Given the description of an element on the screen output the (x, y) to click on. 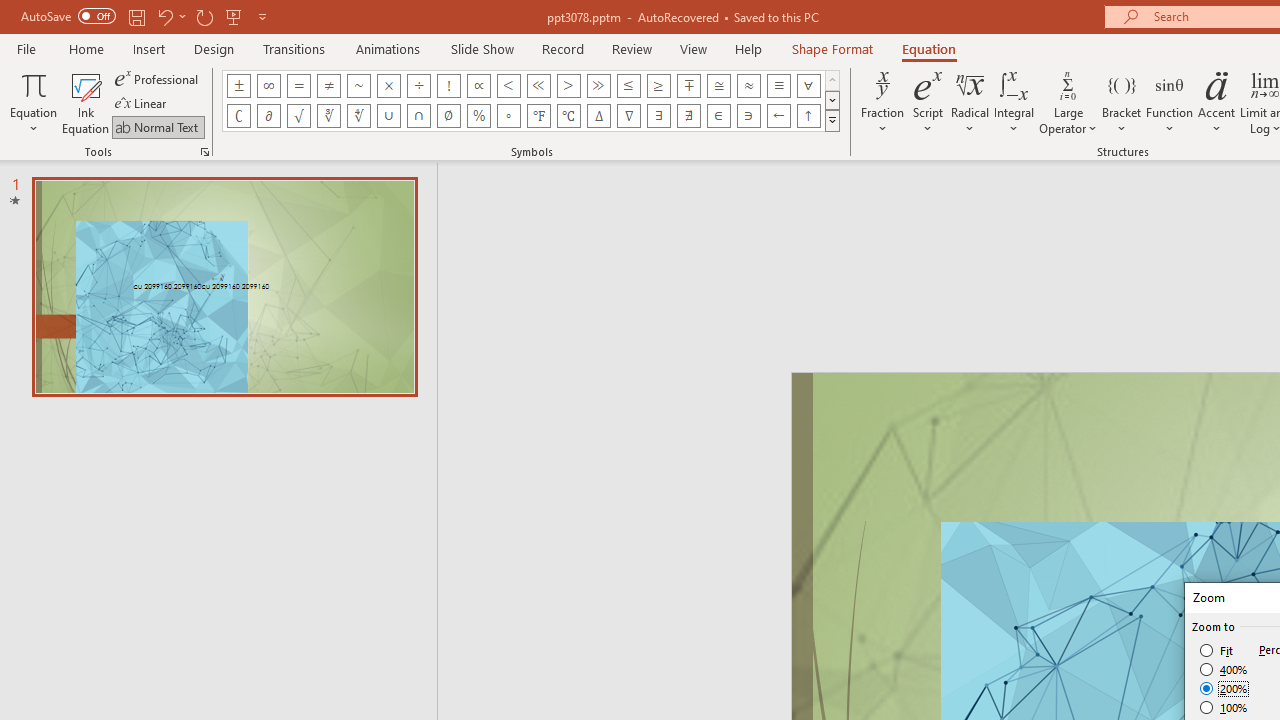
Equation Symbol There Exists (658, 115)
200% (1224, 688)
Equation Symbol Complement (238, 115)
Equation Symbol Radical Sign (298, 115)
Equation Symbol Less Than (508, 85)
Equation Symbol Approximately (358, 85)
Equation Symbol Partial Differential (268, 115)
